Given the description of an element on the screen output the (x, y) to click on. 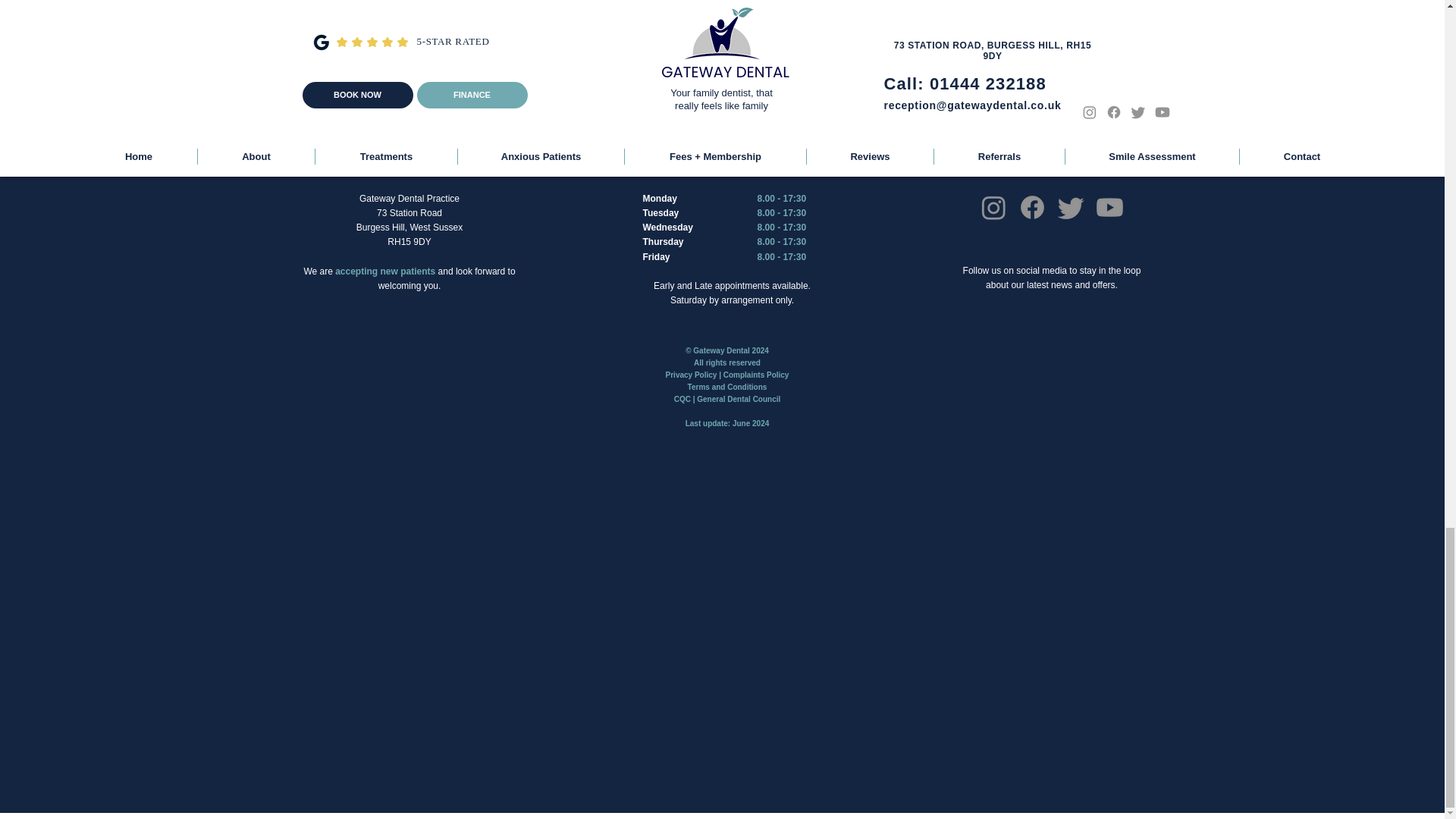
CQC (682, 398)
Terms and Conditions (727, 387)
Complaints Policy (756, 375)
Privacy Policy (691, 375)
